Given the description of an element on the screen output the (x, y) to click on. 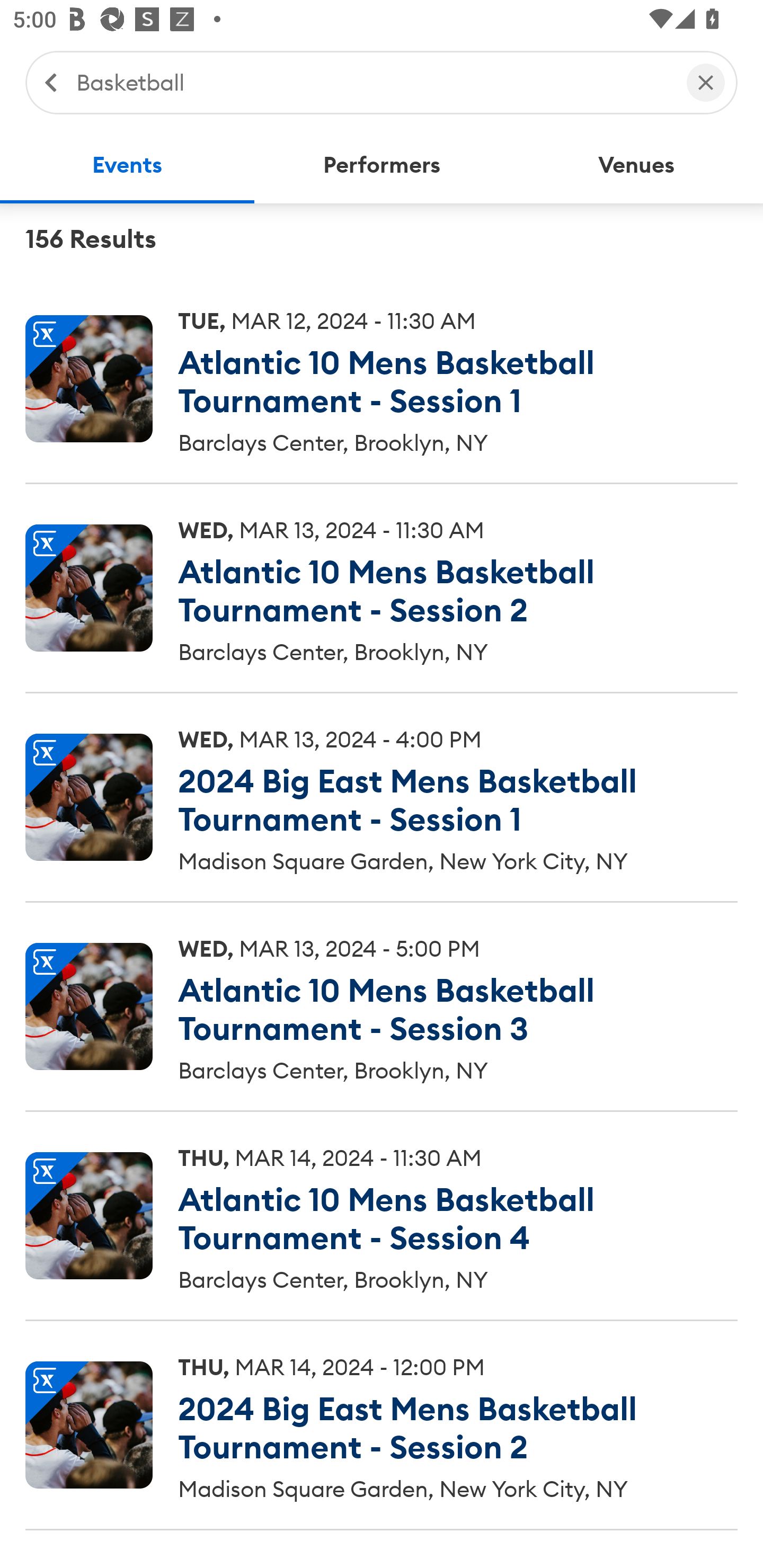
Basketball (371, 81)
Clear Search (705, 81)
Performers (381, 165)
Venues (635, 165)
